Given the description of an element on the screen output the (x, y) to click on. 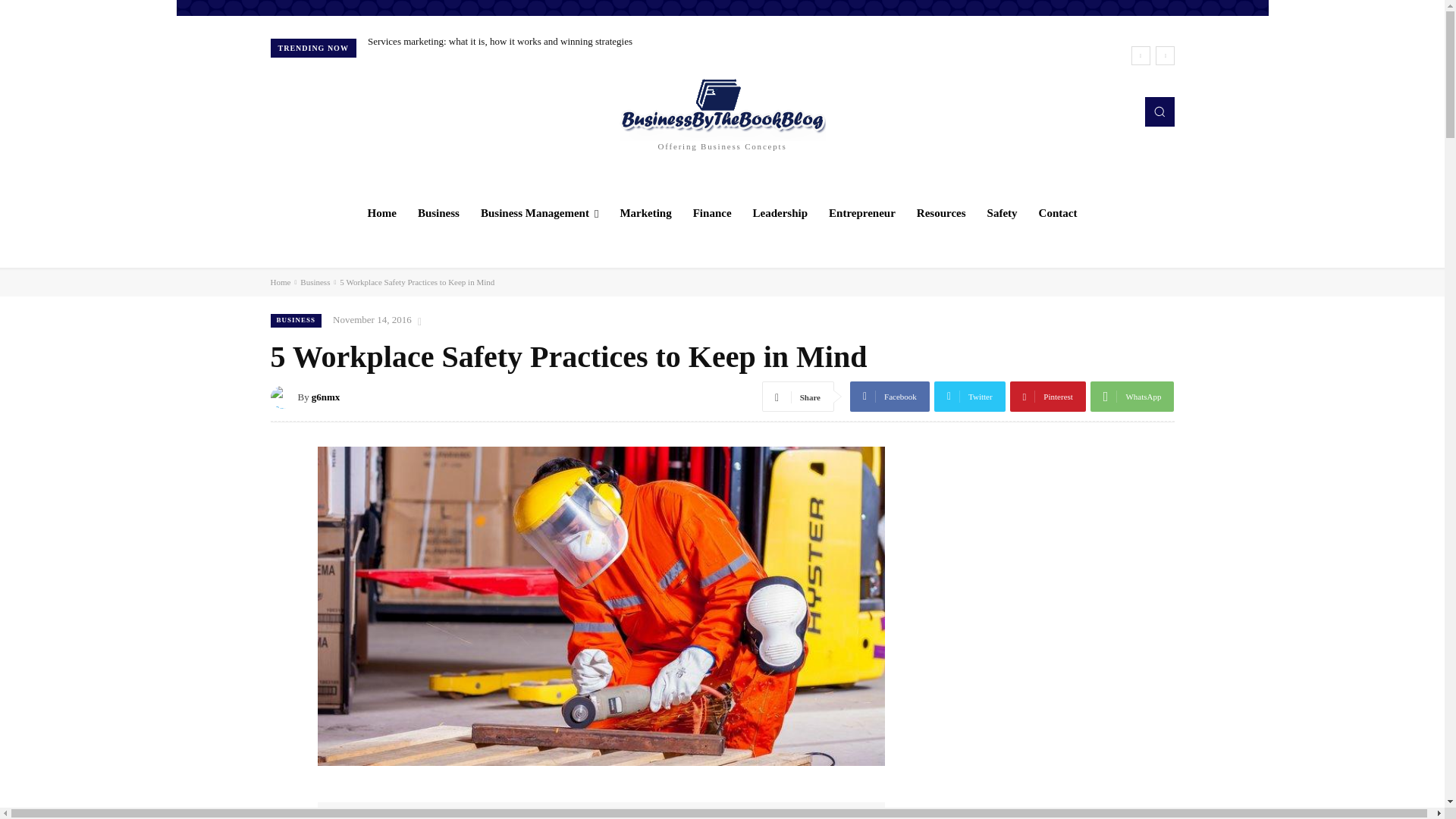
Finance (712, 212)
Safety (1001, 212)
Offering Business Concepts (722, 111)
Entrepreneur (861, 212)
Leadership (780, 212)
Marketing (644, 212)
Business Management (539, 212)
Contact (1057, 212)
Home (381, 212)
Resources (940, 212)
Business (438, 212)
